Given the description of an element on the screen output the (x, y) to click on. 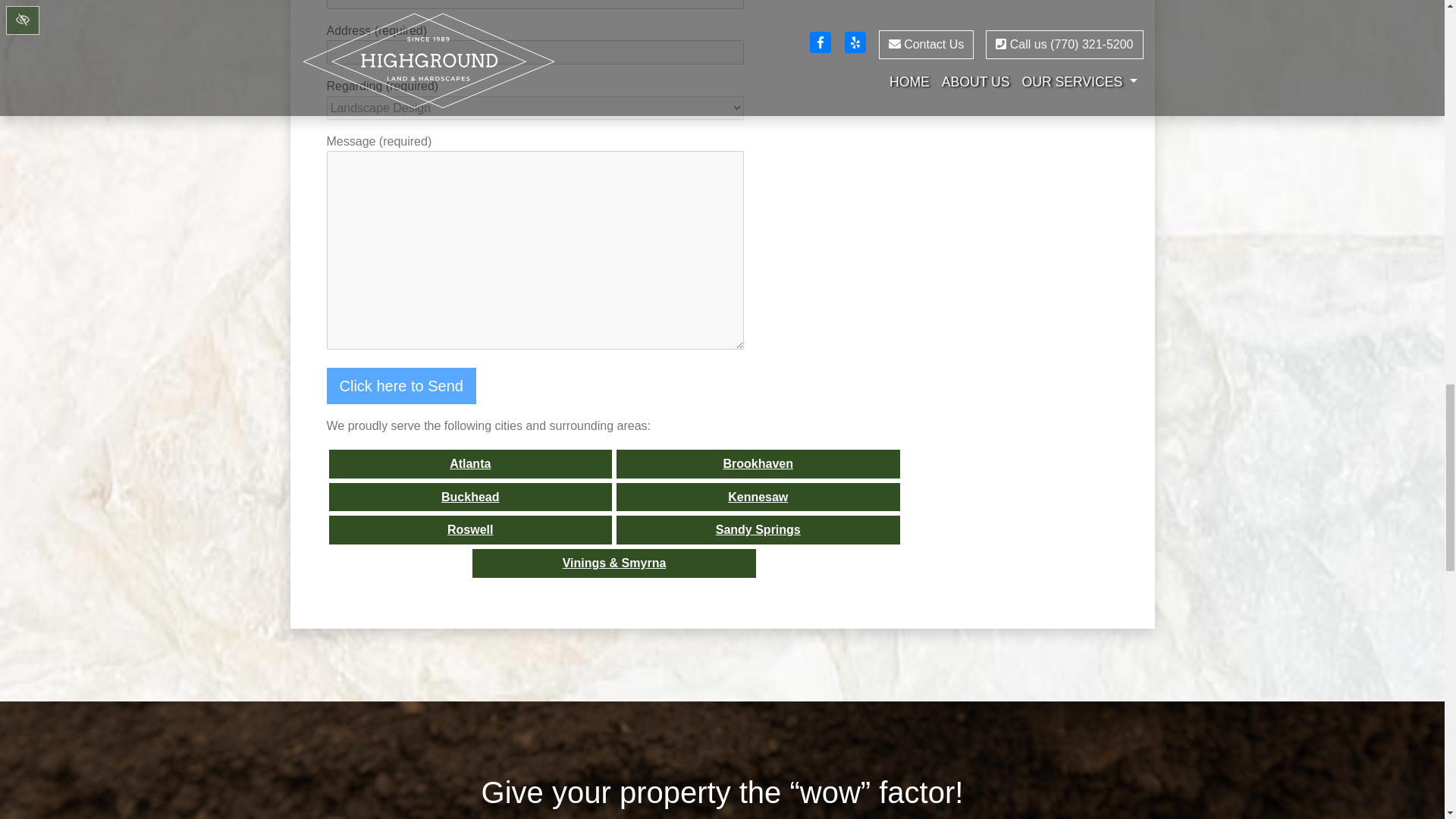
Click here to Send (401, 385)
Kennesaw (757, 497)
Roswell (470, 529)
Sandy Springs (757, 529)
Click here to Send (401, 385)
Buckhead (470, 497)
Brookhaven (757, 463)
Atlanta (470, 463)
